Given the description of an element on the screen output the (x, y) to click on. 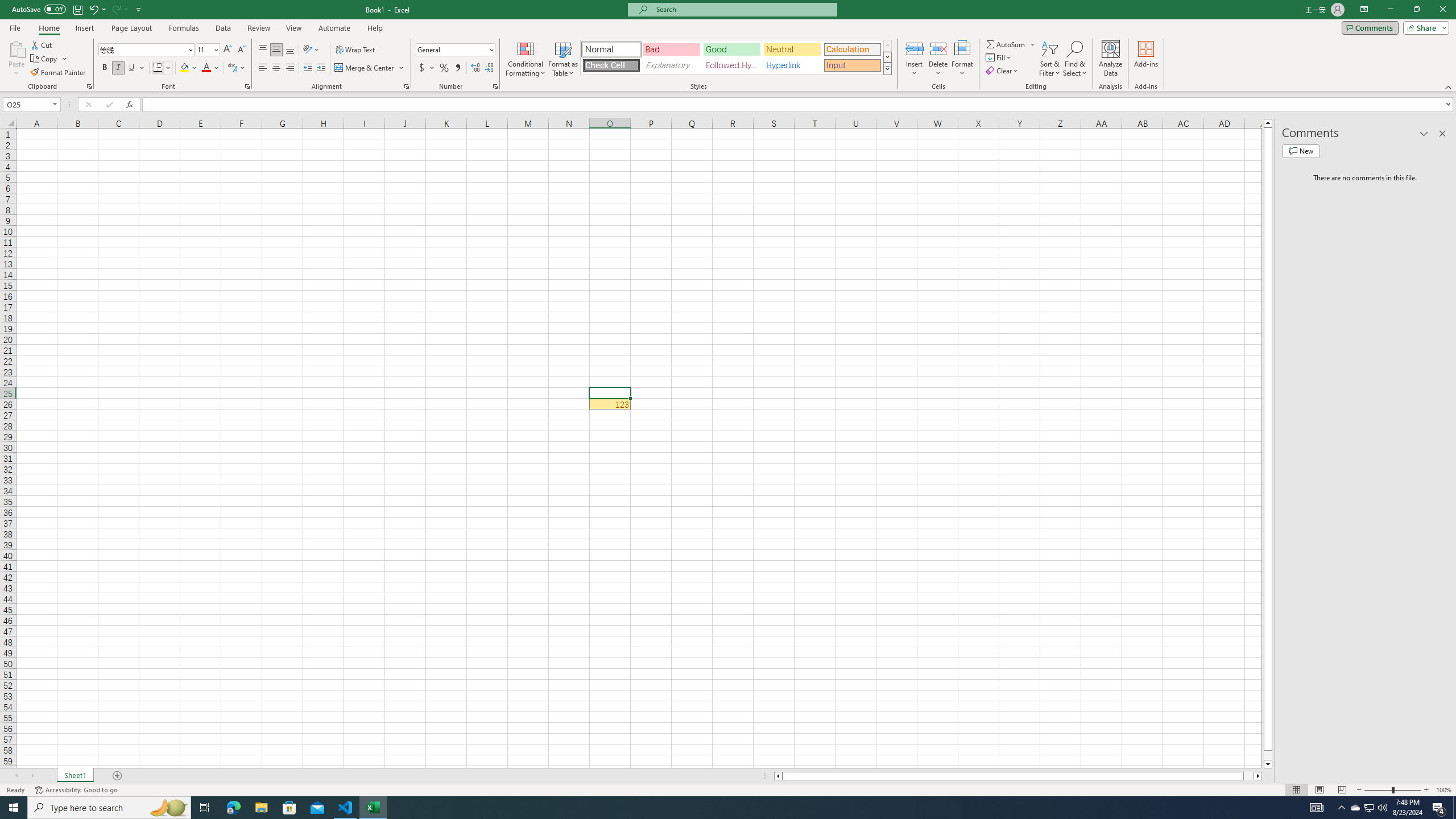
Align Left (262, 67)
Fill Color RGB(255, 255, 0) (183, 67)
AutomationID: CellStylesGallery (736, 57)
Number Format (455, 49)
AutoSum (1011, 44)
Conditional Formatting (525, 58)
Show Phonetic Field (236, 67)
Merge & Center (369, 67)
Sort & Filter (1049, 58)
